Given the description of an element on the screen output the (x, y) to click on. 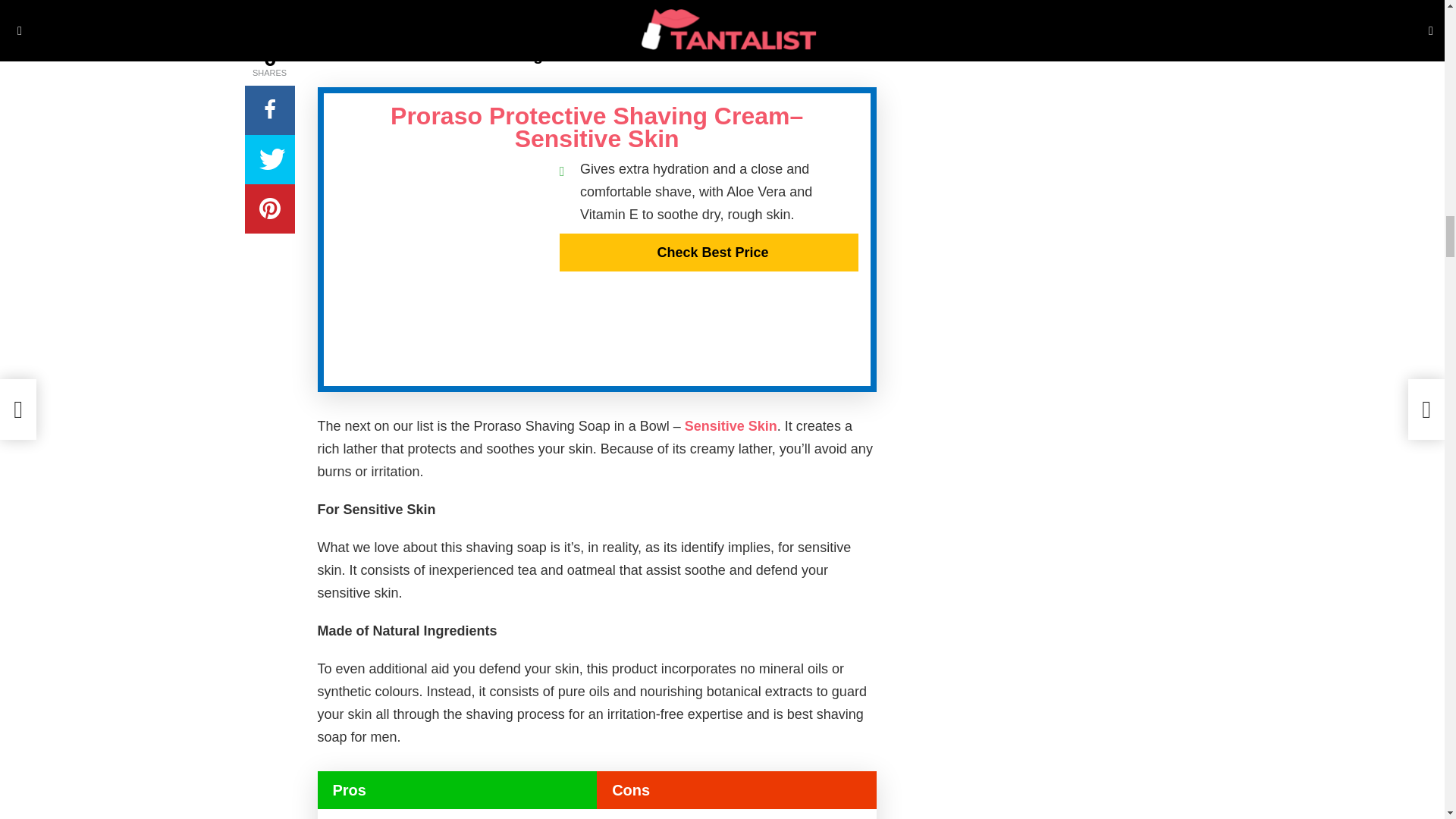
Check Best Price (709, 252)
Sensitive Skin (730, 426)
